Given the description of an element on the screen output the (x, y) to click on. 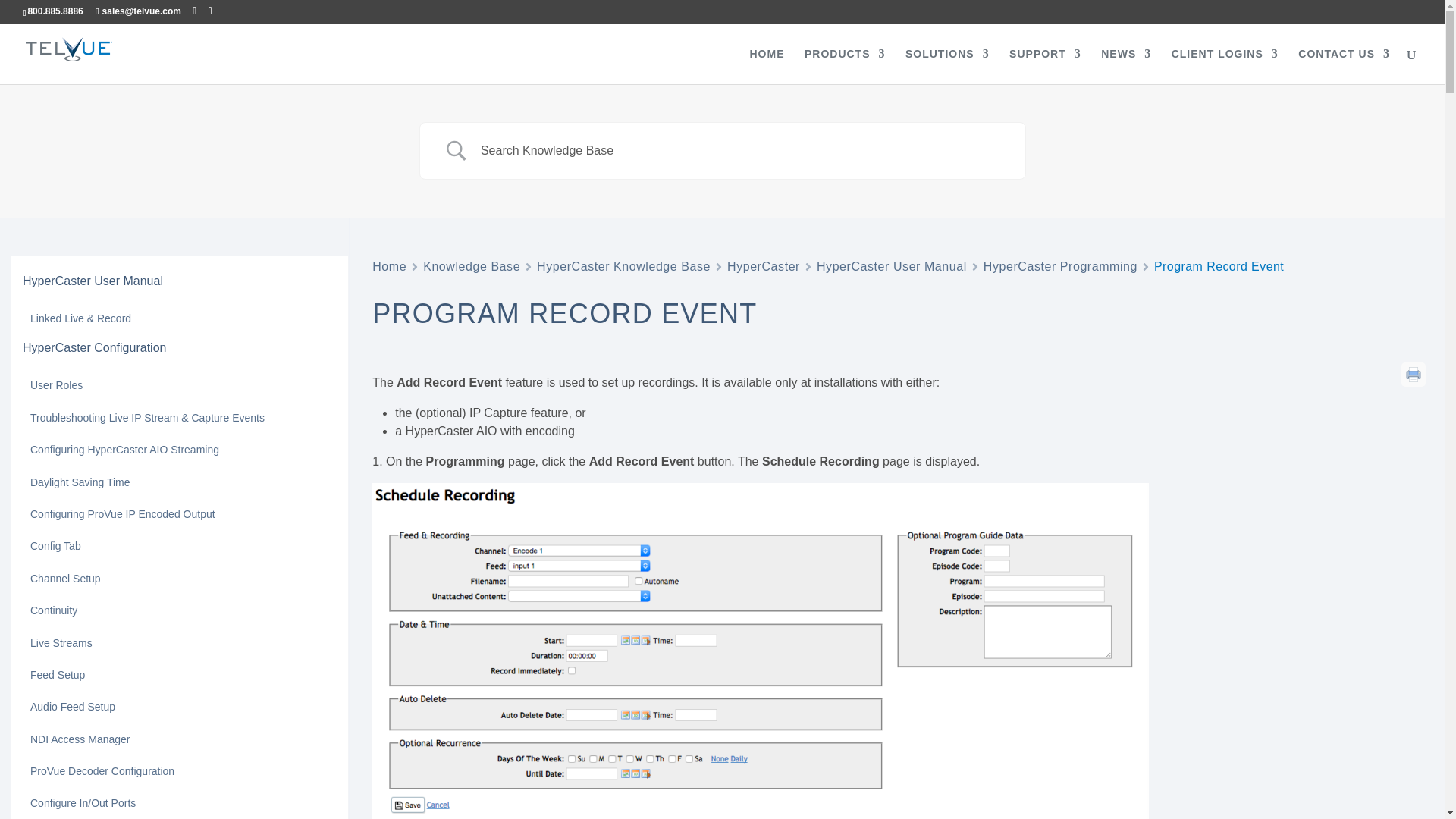
NEWS (1125, 66)
HyperCaster (762, 266)
SOLUTIONS (947, 66)
Home (389, 266)
HOME (766, 66)
HyperCaster Programming (1060, 266)
PRODUCTS (845, 66)
SUPPORT (1045, 66)
HyperCaster User Manual (891, 266)
Knowledge Base (471, 266)
HyperCaster Knowledge Base (623, 266)
